Given the description of an element on the screen output the (x, y) to click on. 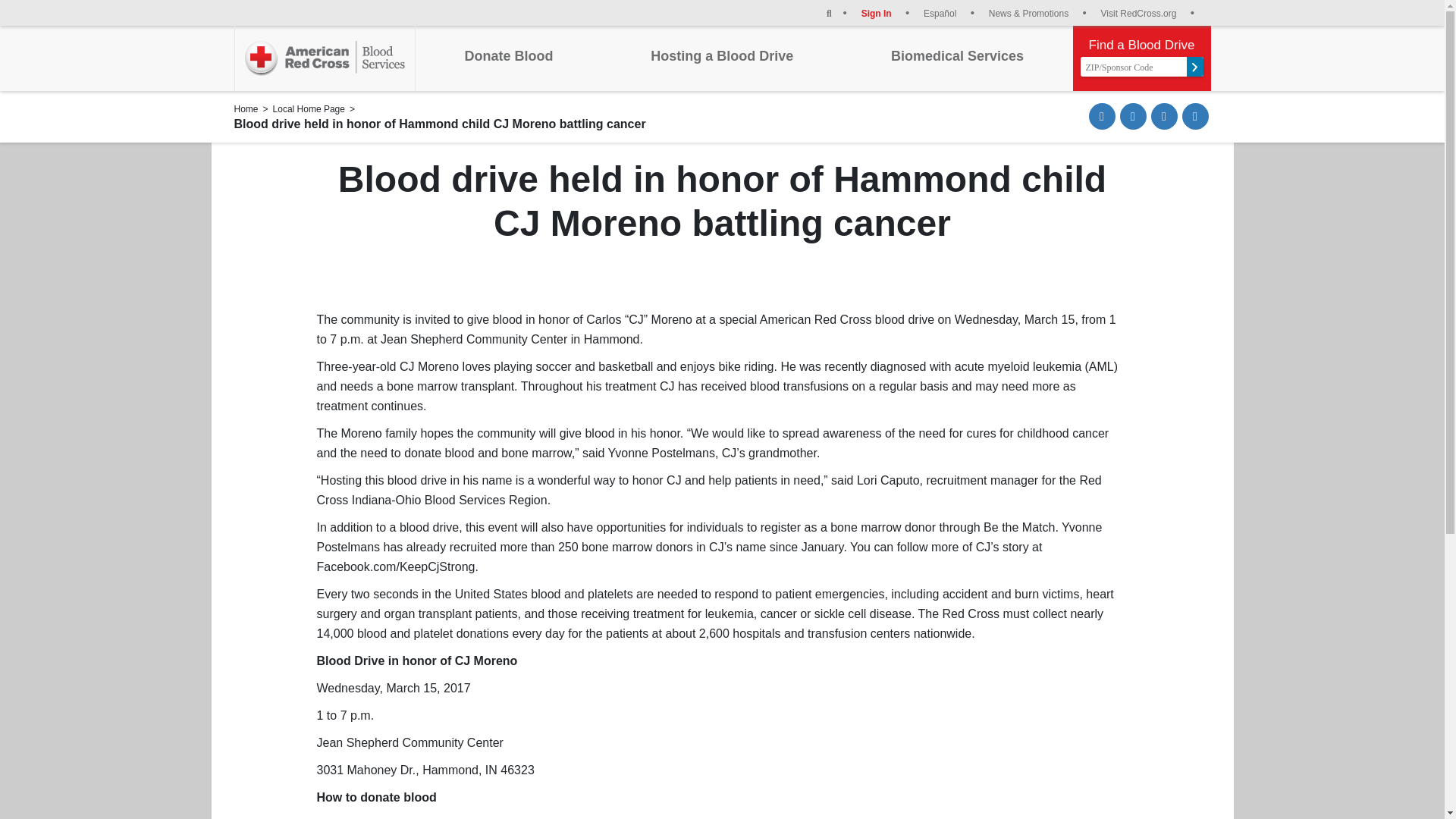
Visit RedCross.org (1146, 13)
Tweet (1164, 116)
Share via Email (1102, 116)
Other share options (1194, 116)
Hosting a Blood Drive (721, 55)
Sign In (885, 13)
Share on Facebook (1132, 116)
Donate Blood (508, 55)
